Given the description of an element on the screen output the (x, y) to click on. 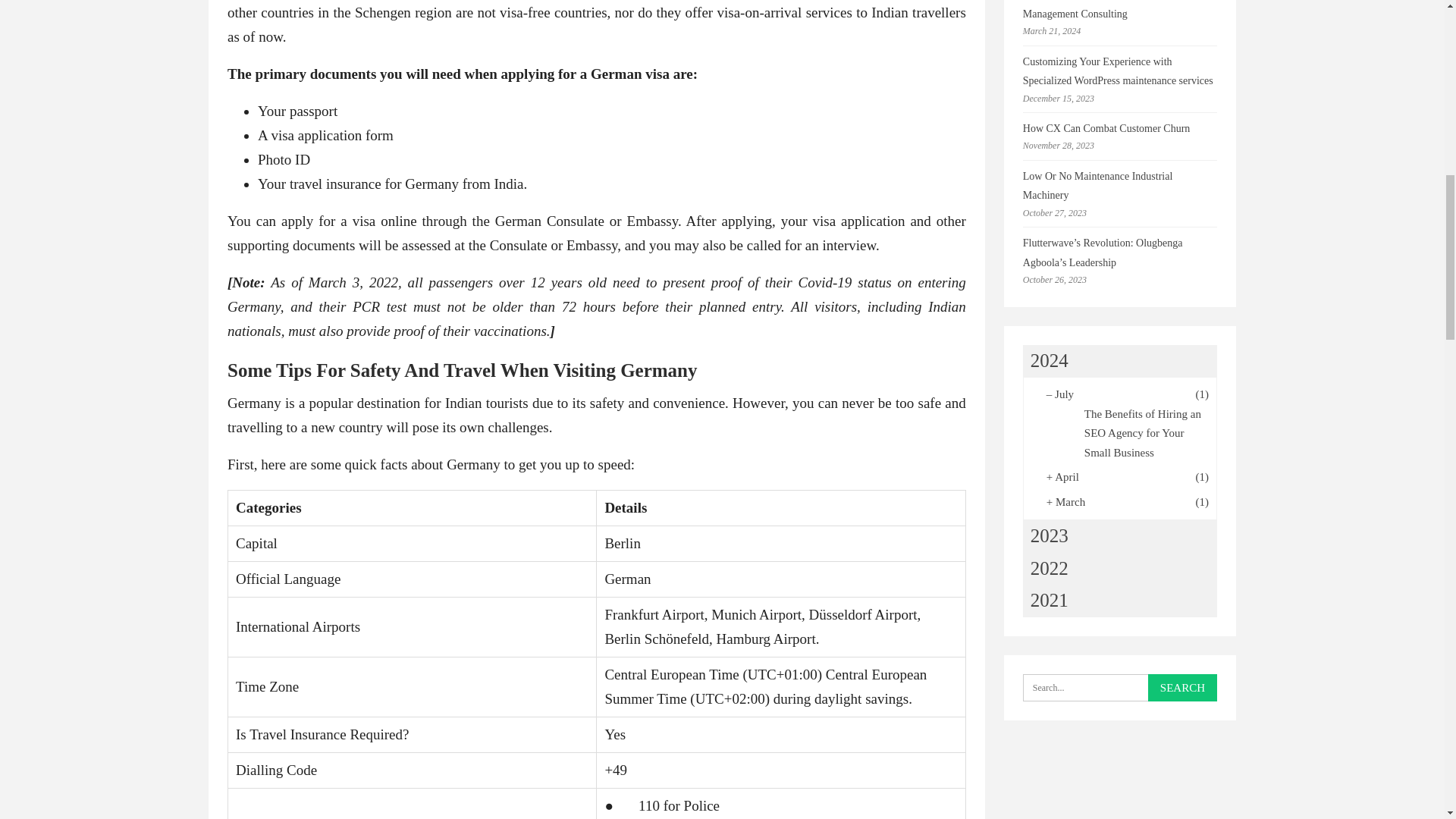
Search (1182, 687)
Search (1182, 687)
